Given the description of an element on the screen output the (x, y) to click on. 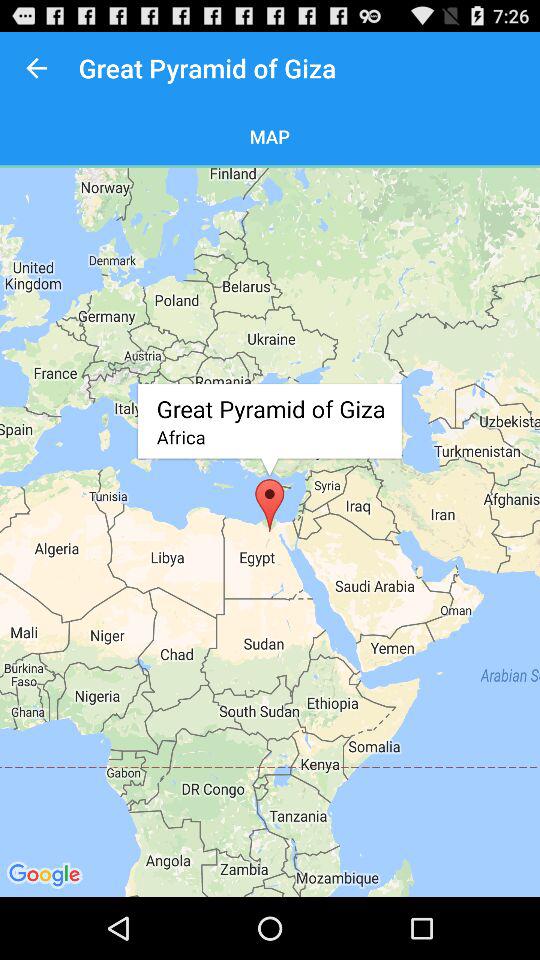
launch icon to the left of great pyramid of (36, 68)
